Given the description of an element on the screen output the (x, y) to click on. 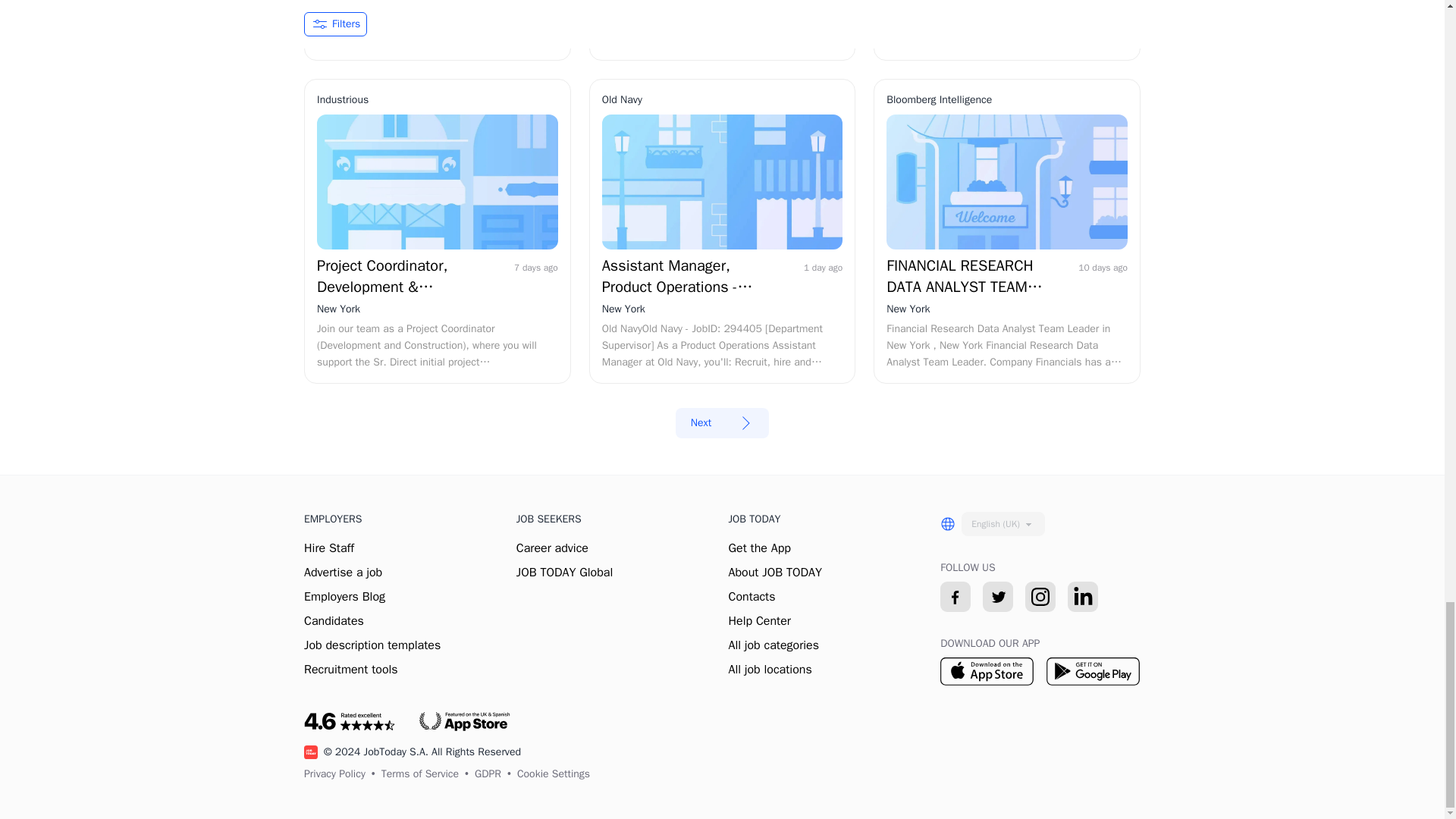
Next (721, 422)
JOB TODAY Android Application (1093, 670)
Candidates (334, 620)
Career advice (552, 548)
JOB TODAY iOS Application (986, 670)
JOB TODAY LinkedIn (1082, 596)
JOB TODAY Twitter (997, 596)
JOB TODAY Facebook (955, 596)
Job description templates (372, 645)
Recruitment tools (350, 669)
Hire Staff (328, 548)
JOB TODAY Instagram (1040, 596)
Advertise a job (342, 572)
Employers Blog (344, 596)
